Given the description of an element on the screen output the (x, y) to click on. 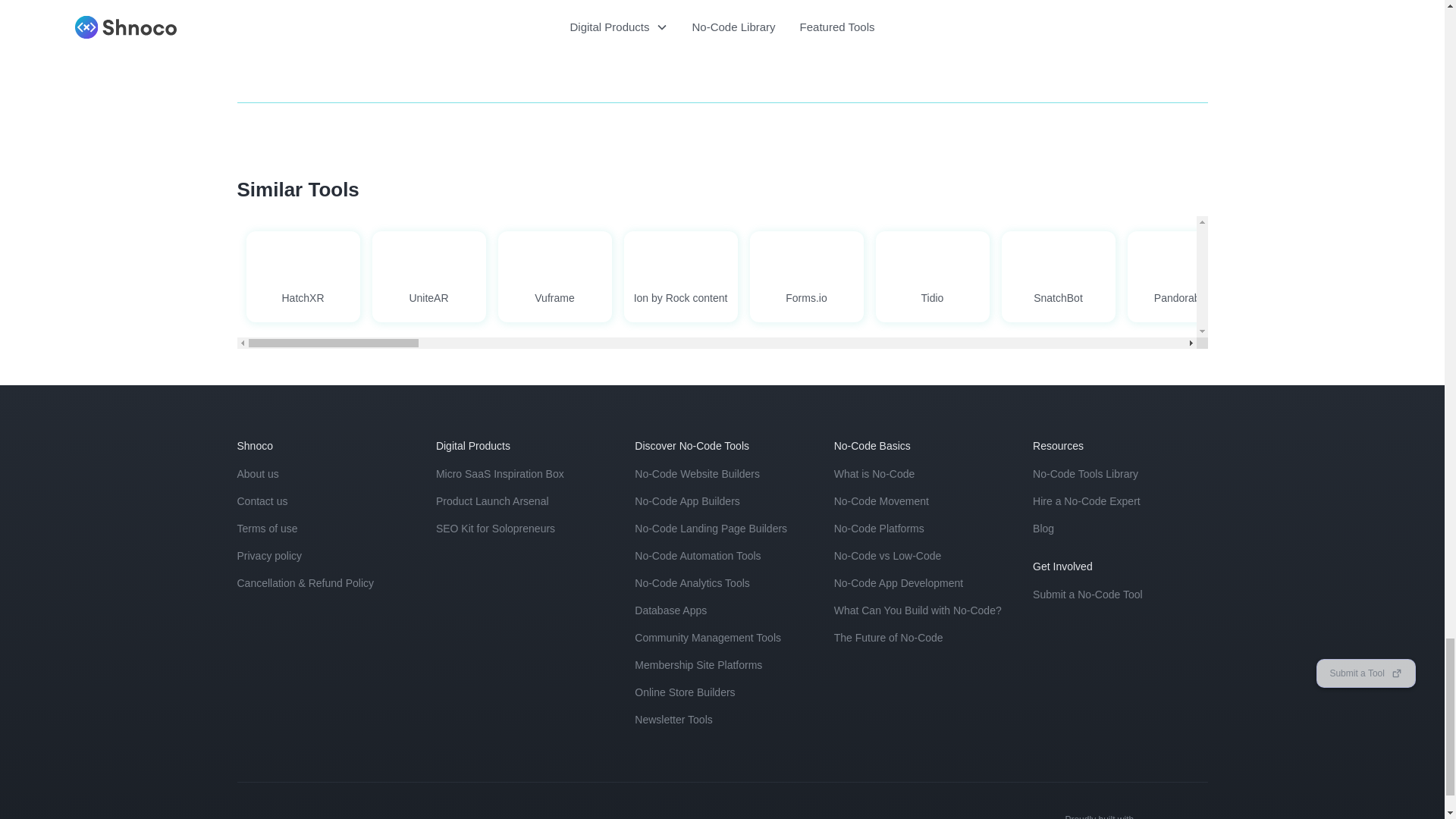
SnatchBot (1058, 271)
HatchXR (302, 276)
Forms.io (806, 271)
Pandorabots (1183, 276)
ManyChat (1309, 276)
Ion by Rock content (679, 276)
Vuframe (554, 276)
UniteAR (427, 276)
HatchXR (302, 271)
